Given the description of an element on the screen output the (x, y) to click on. 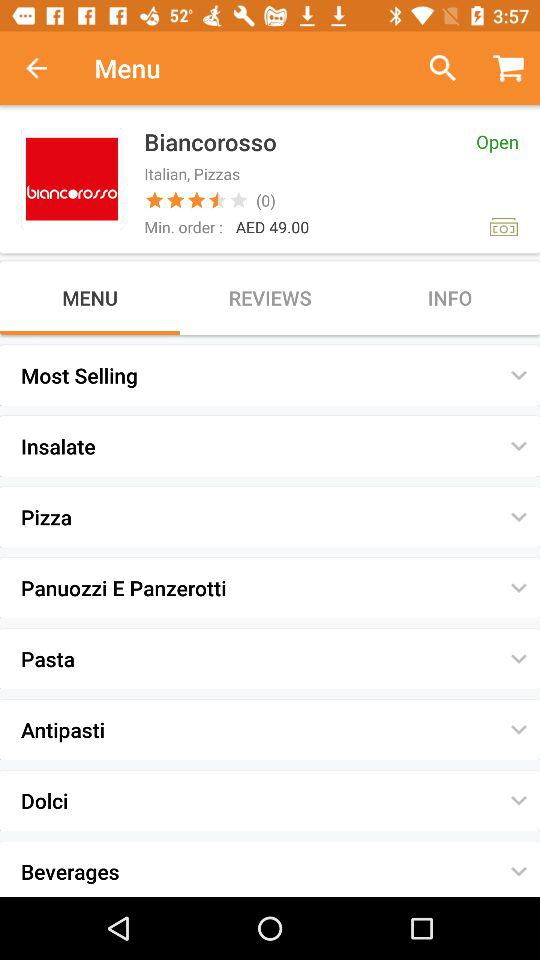
etc (434, 68)
